Given the description of an element on the screen output the (x, y) to click on. 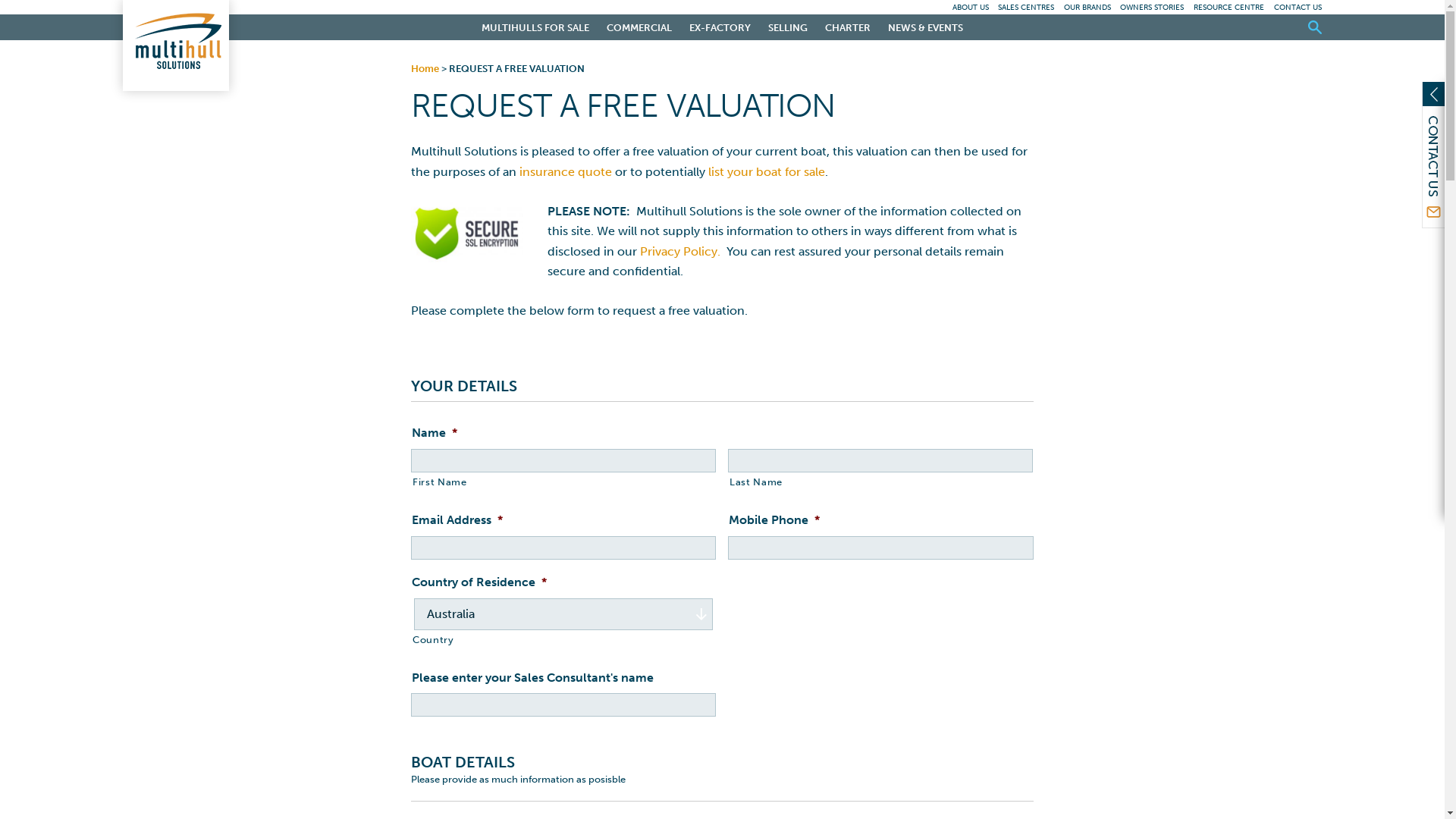
Multihull Solutions Element type: hover (175, 45)
OUR BRANDS Element type: text (1086, 7)
CHARTER Element type: text (848, 27)
RESOURCE CENTRE Element type: text (1228, 7)
MULTIHULLS FOR SALE Element type: text (534, 27)
EX-FACTORY Element type: text (719, 27)
COMMERCIAL Element type: text (638, 27)
Home Element type: text (425, 68)
CONTACT US Element type: text (1297, 7)
SELLING Element type: text (787, 27)
insurance quote Element type: text (565, 171)
ABOUT US Element type: text (970, 7)
Privacy Policy.   Element type: text (683, 251)
list your boat for sale Element type: text (766, 171)
SALES CENTRES Element type: text (1025, 7)
NEWS & EVENTS Element type: text (925, 27)
OWNERS STORIES Element type: text (1151, 7)
